Given the description of an element on the screen output the (x, y) to click on. 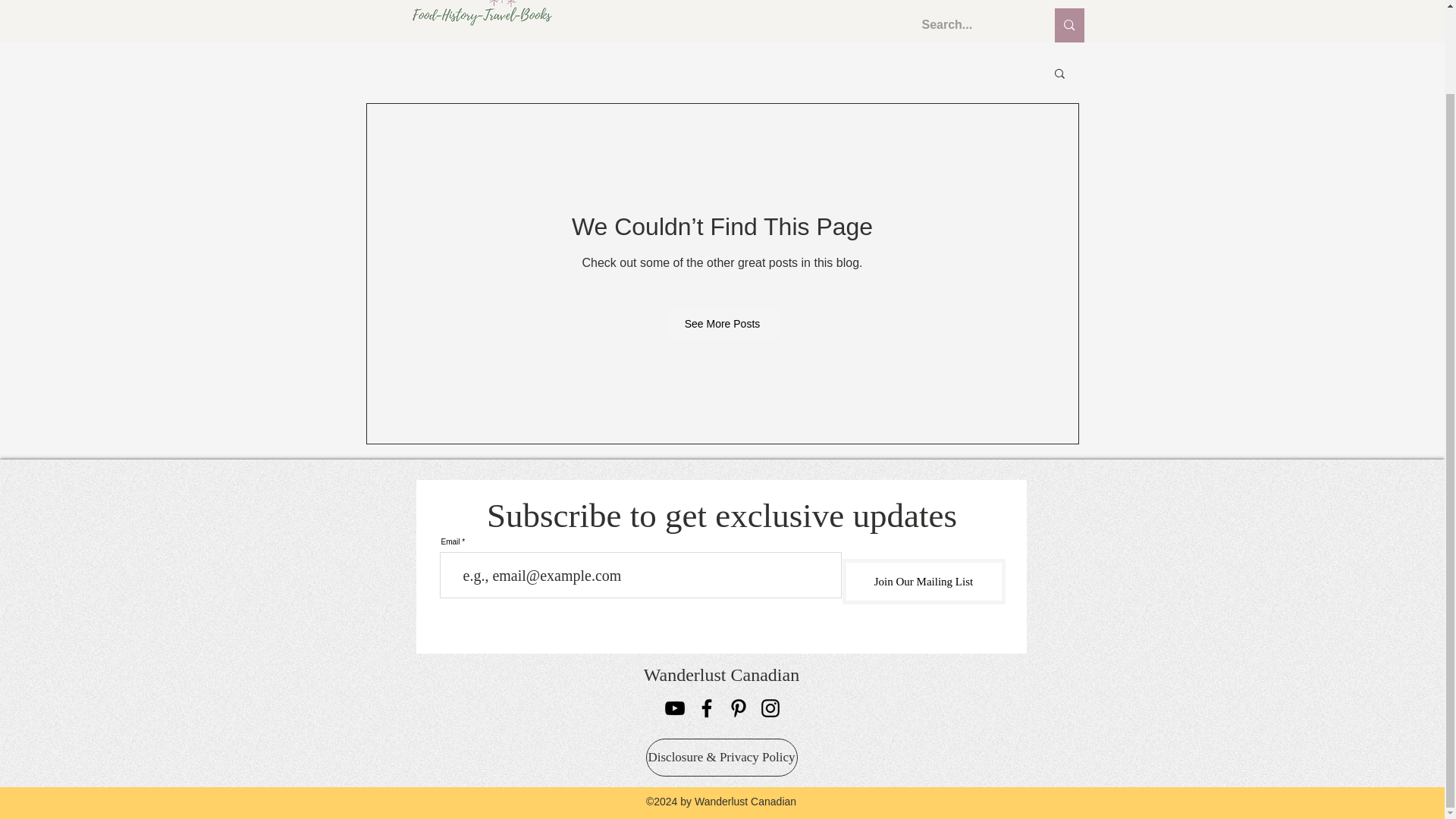
Join Our Mailing List (922, 581)
Log In (1039, 1)
See More Posts (722, 323)
